Given the description of an element on the screen output the (x, y) to click on. 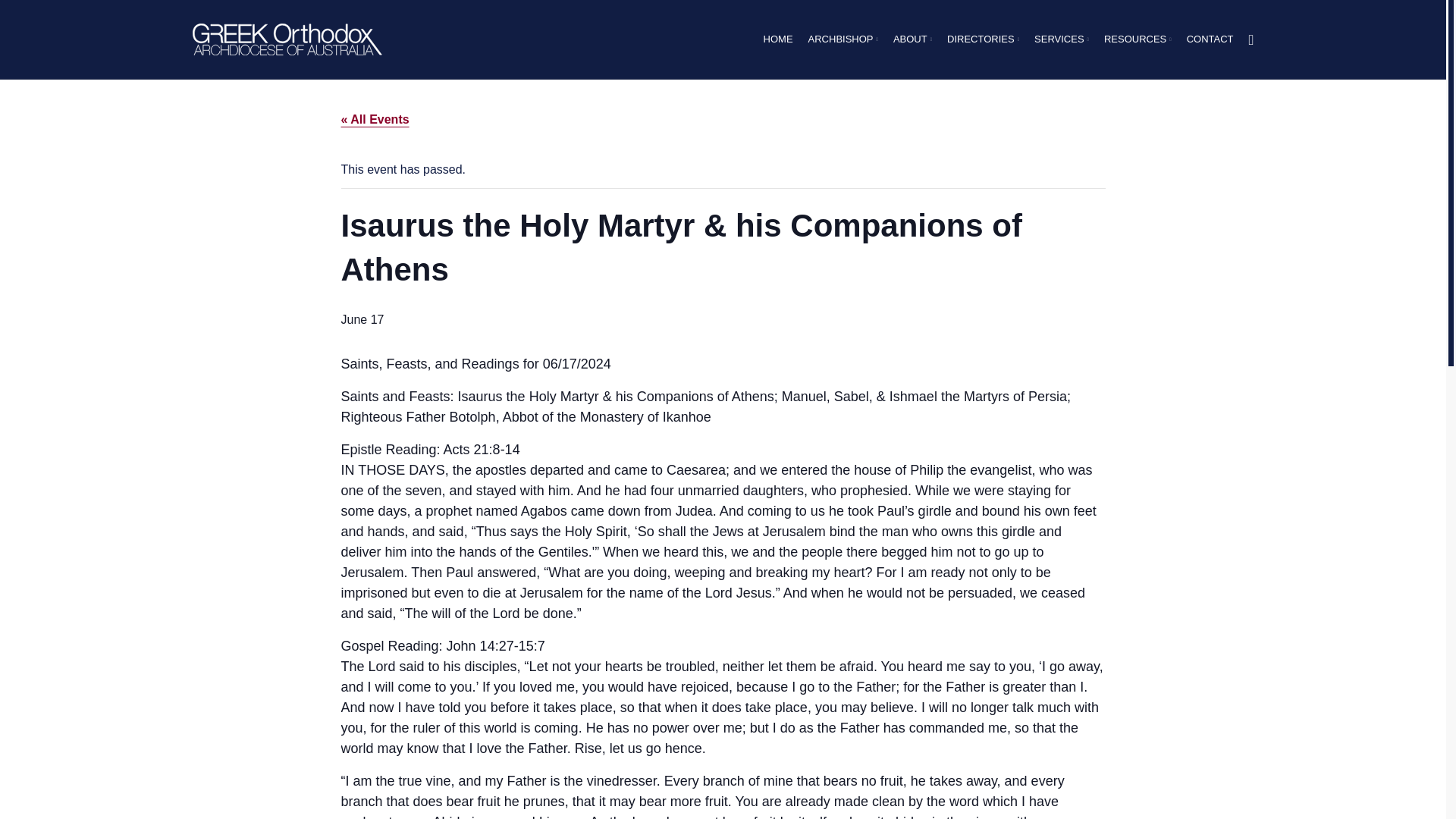
RESOURCES (1137, 39)
SERVICES (1061, 39)
ABOUT (912, 39)
HOME (777, 39)
DIRECTORIES (982, 39)
ARCHBISHOP (842, 39)
CONTACT (1210, 39)
